Given the description of an element on the screen output the (x, y) to click on. 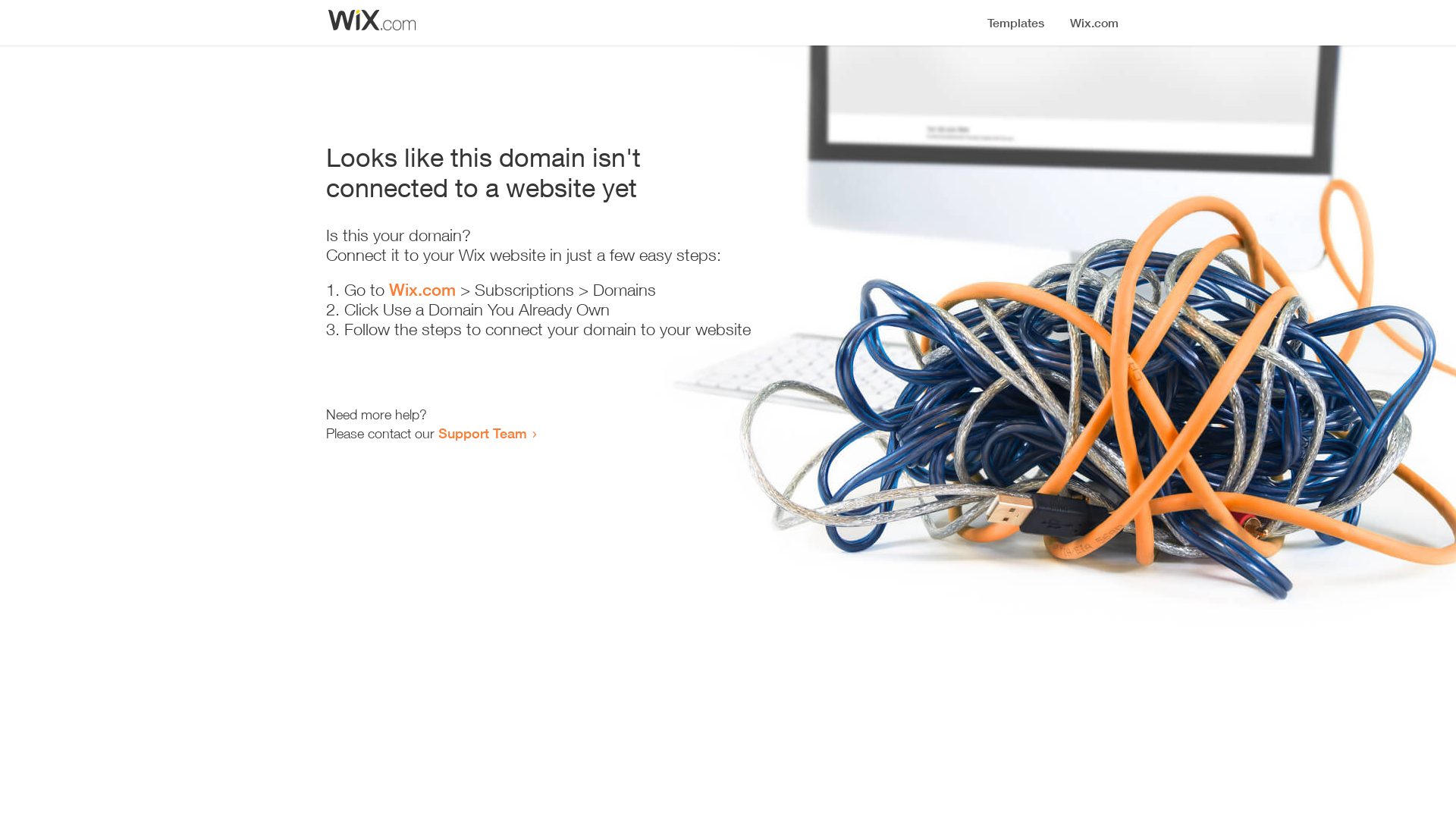
Support Team Element type: text (482, 432)
Wix.com Element type: text (422, 289)
